Given the description of an element on the screen output the (x, y) to click on. 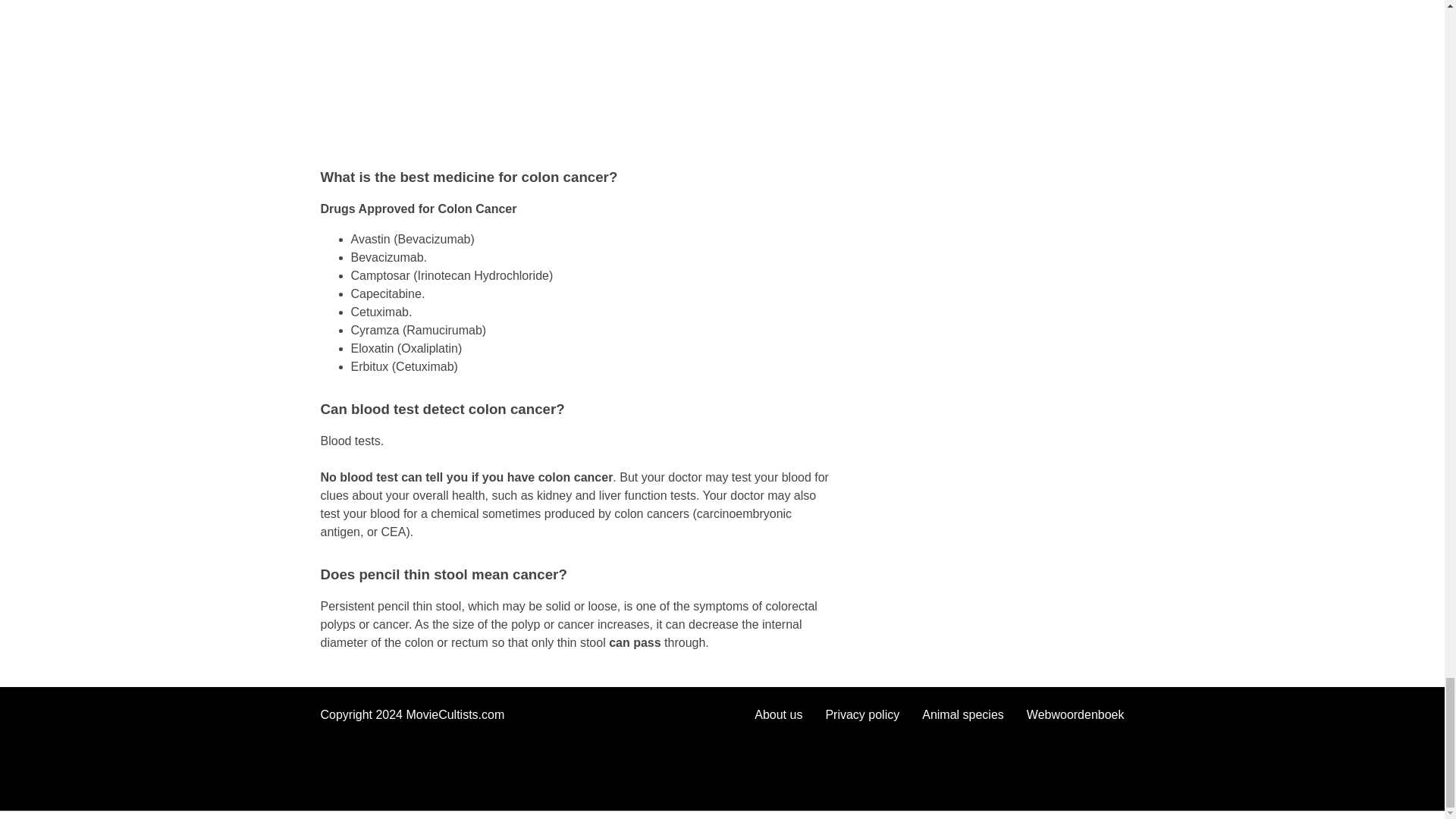
About us (778, 714)
Webwoordenboek (1075, 714)
Animal species (962, 714)
Privacy policy (862, 714)
